Given the description of an element on the screen output the (x, y) to click on. 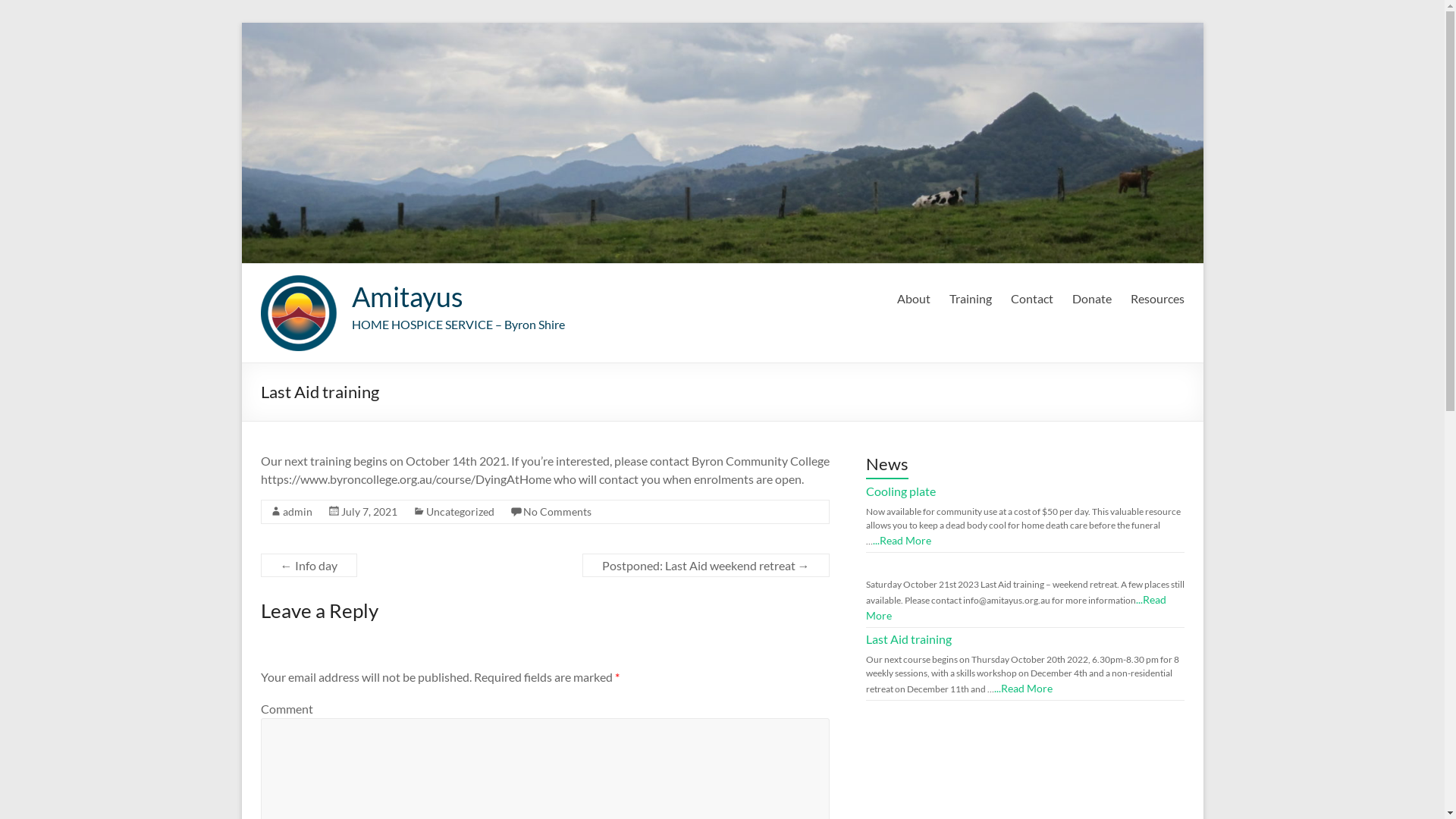
admin Element type: text (296, 511)
Contact Element type: text (1031, 296)
No Comments Element type: text (557, 511)
Last Aid training Element type: text (908, 638)
Amitayus Element type: text (407, 296)
...Read More Element type: text (1022, 687)
...Read More Element type: text (1016, 607)
Donate Element type: text (1091, 296)
Training Element type: text (970, 296)
About Element type: text (912, 296)
Uncategorized Element type: text (460, 511)
Resources Element type: text (1156, 296)
...Read More Element type: text (901, 539)
Cooling plate Element type: text (900, 490)
July 7, 2021 Element type: text (369, 511)
